Given the description of an element on the screen output the (x, y) to click on. 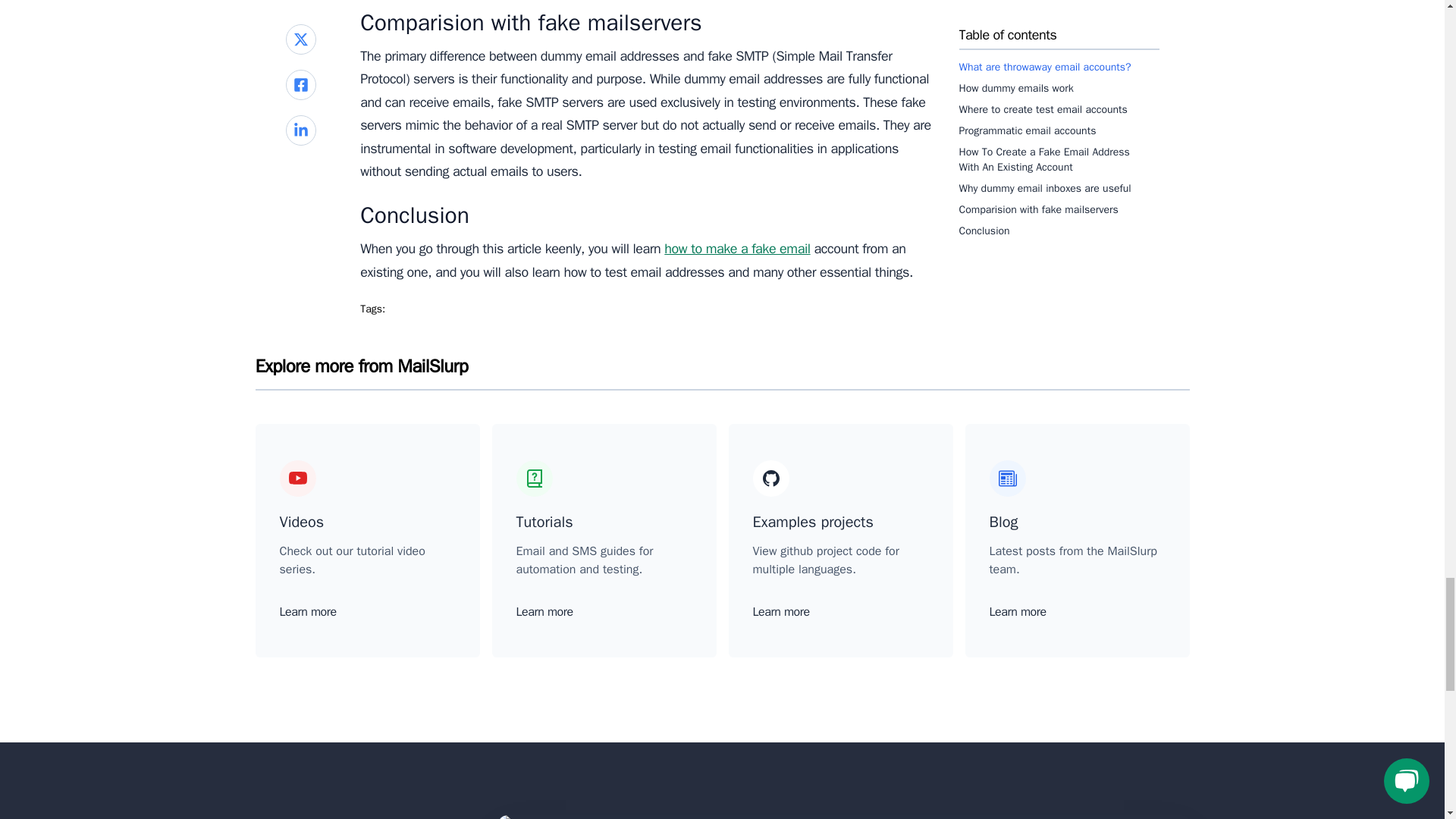
how to make a fake email (736, 248)
